Given the description of an element on the screen output the (x, y) to click on. 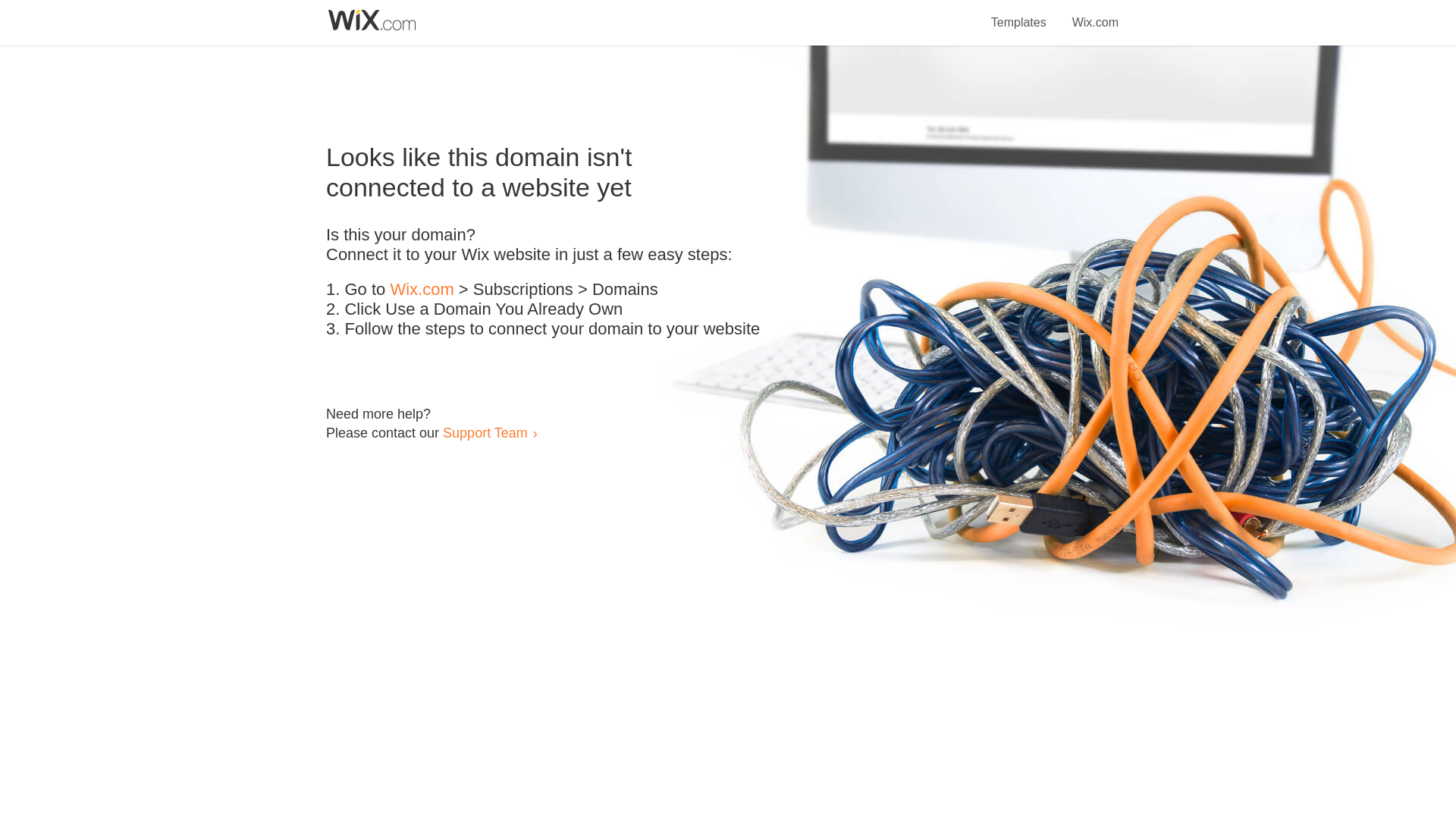
Wix.com (1095, 14)
Wix.com (421, 289)
Support Team (484, 432)
Templates (1018, 14)
